Given the description of an element on the screen output the (x, y) to click on. 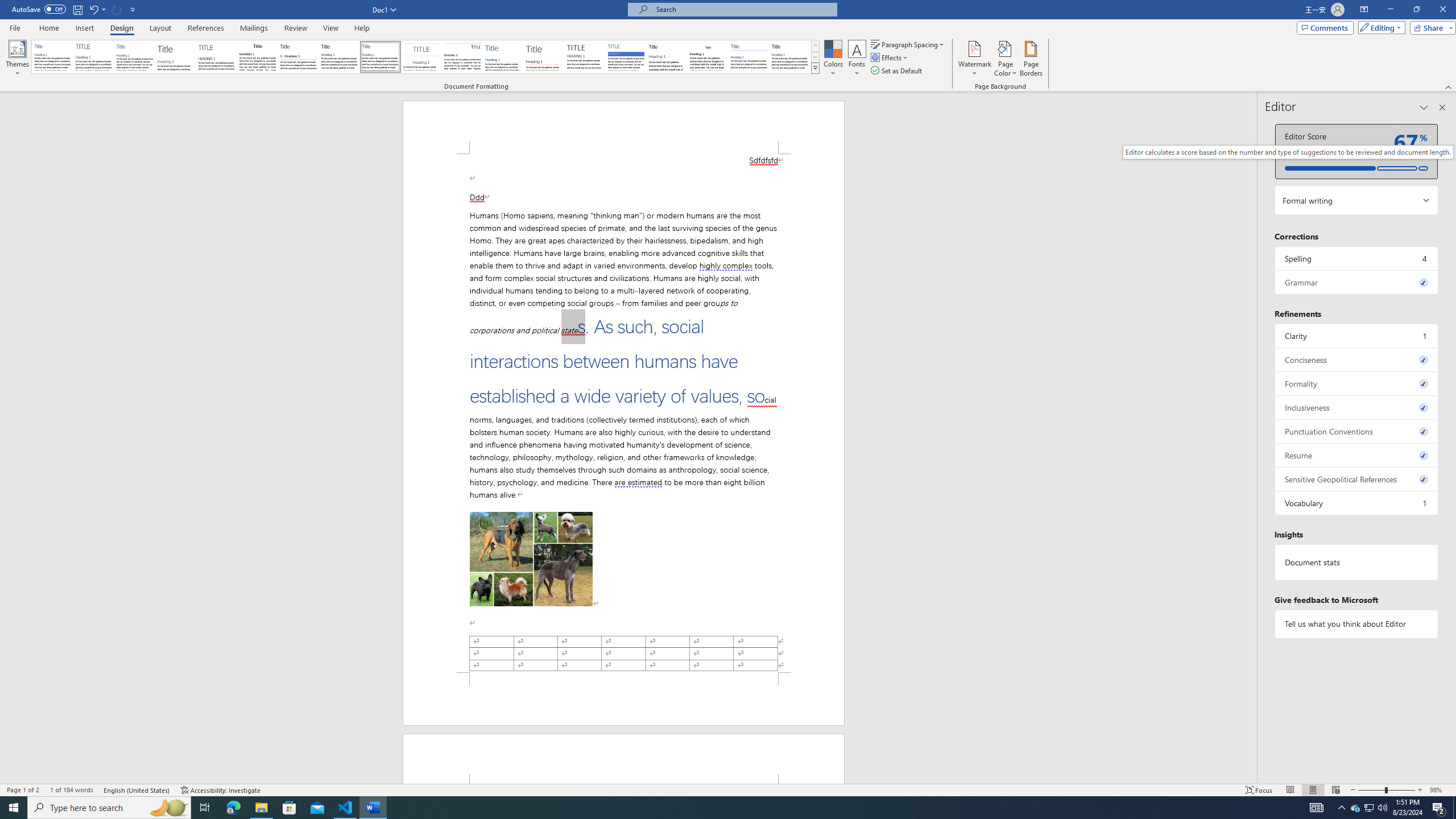
Conciseness, 0 issues. Press space or enter to review items. (1356, 359)
Document (52, 56)
Word 2010 (749, 56)
Lines (Stylish) (544, 56)
Lines (Simple) (503, 56)
Minimalist (584, 56)
